Given the description of an element on the screen output the (x, y) to click on. 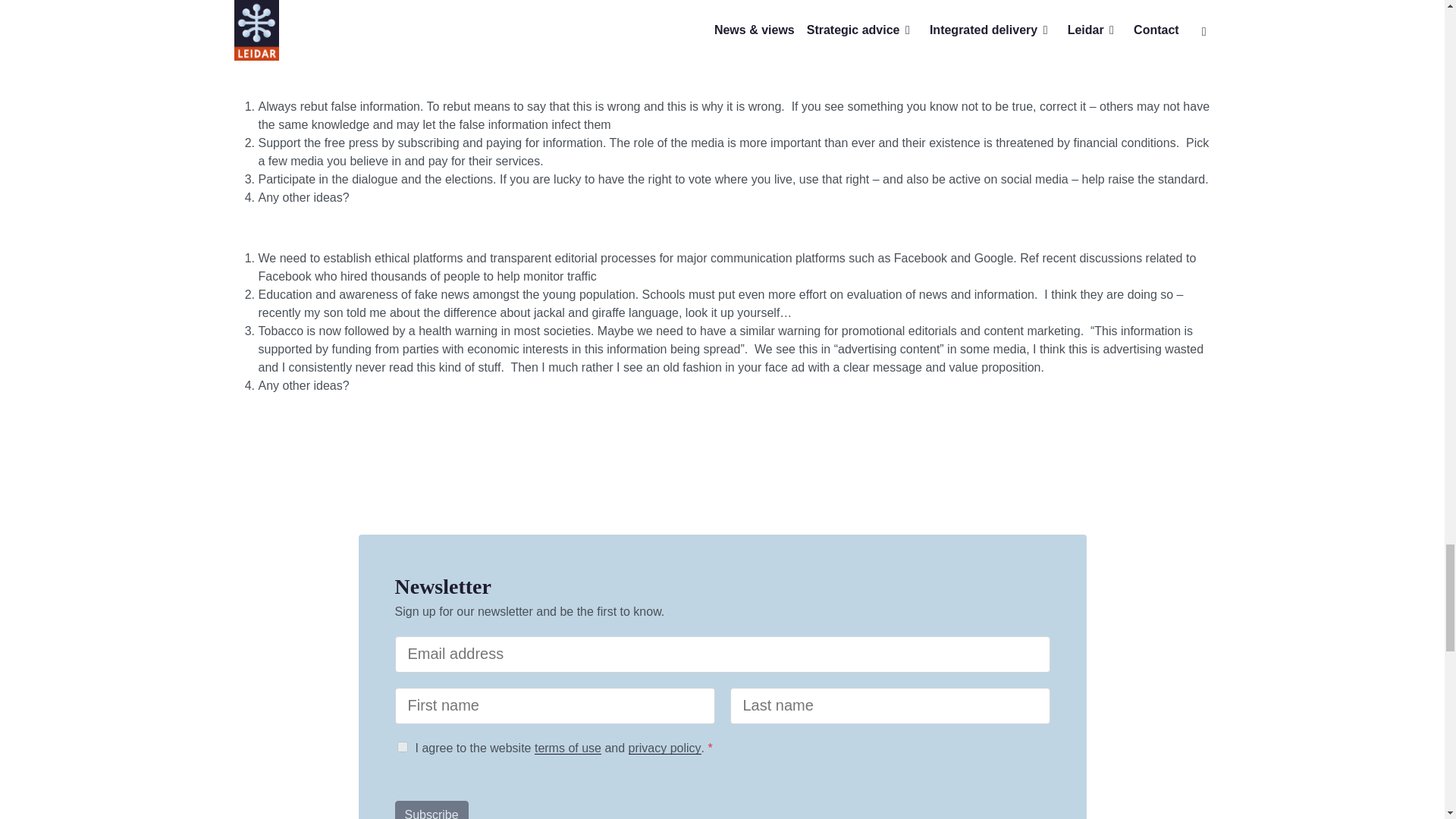
terms of use (567, 748)
privacy policy (664, 748)
Subscribe (430, 809)
